Given the description of an element on the screen output the (x, y) to click on. 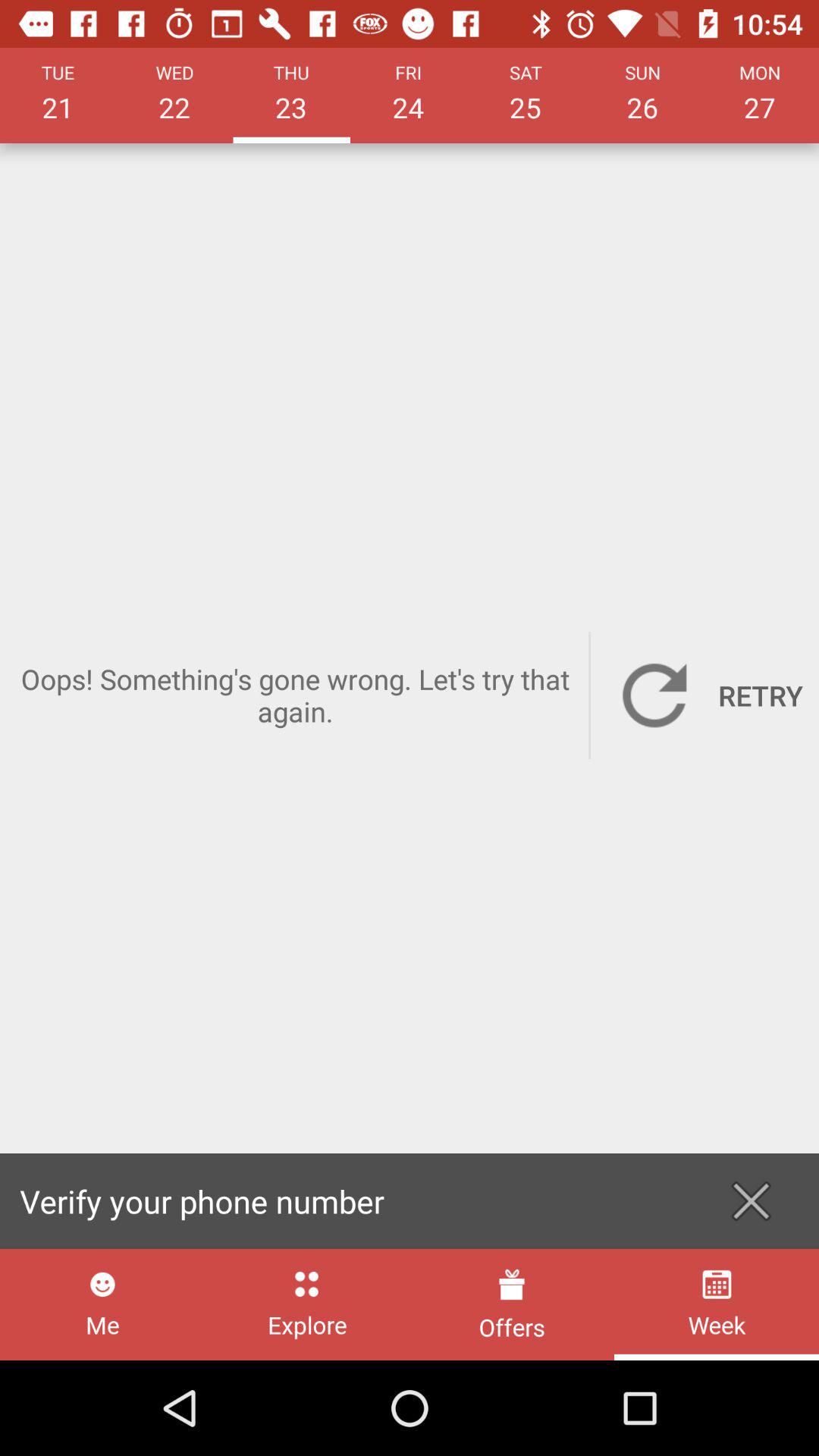
swipe until retry (704, 695)
